Given the description of an element on the screen output the (x, y) to click on. 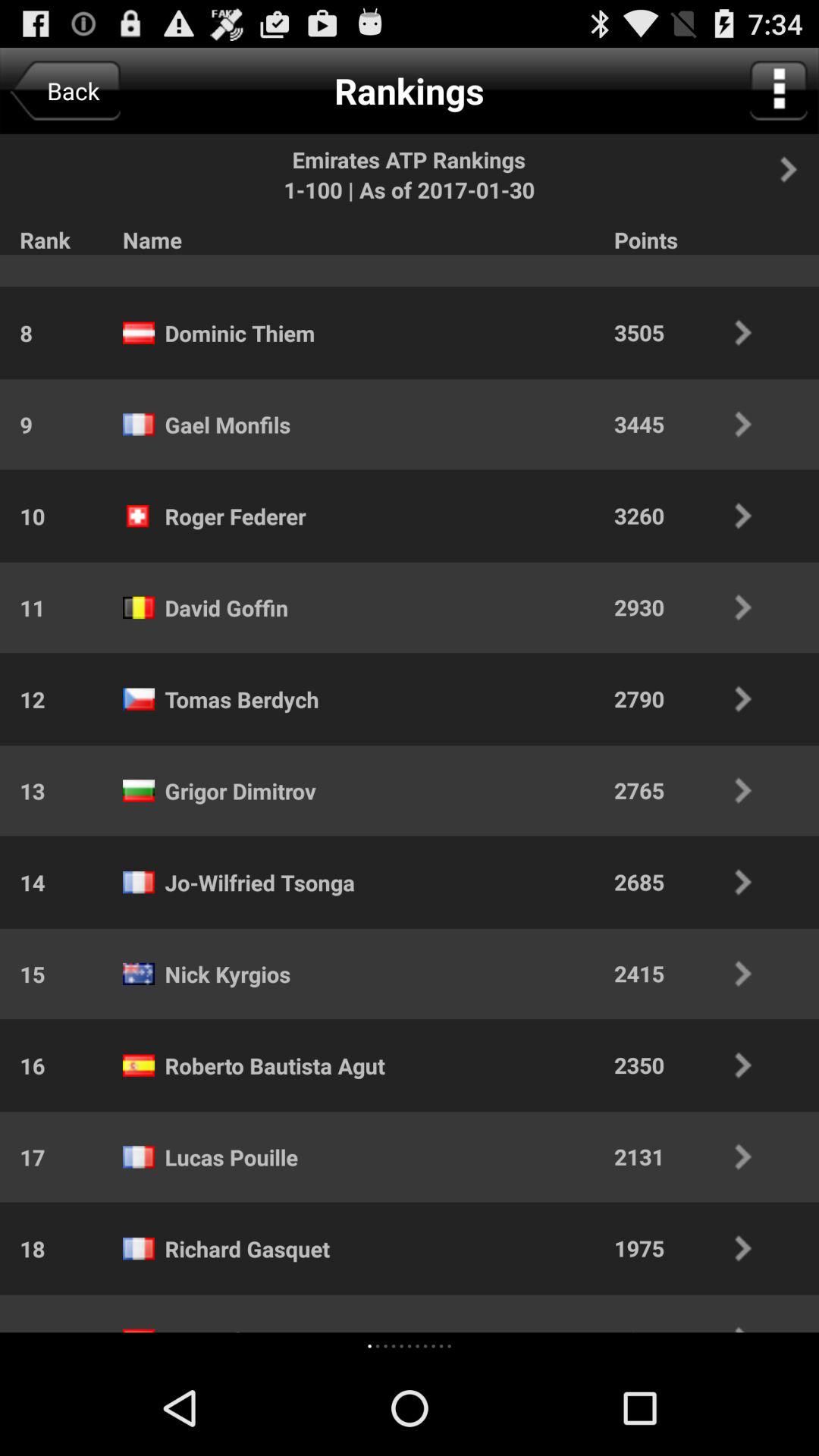
scroll until the 1875 icon (693, 1328)
